Given the description of an element on the screen output the (x, y) to click on. 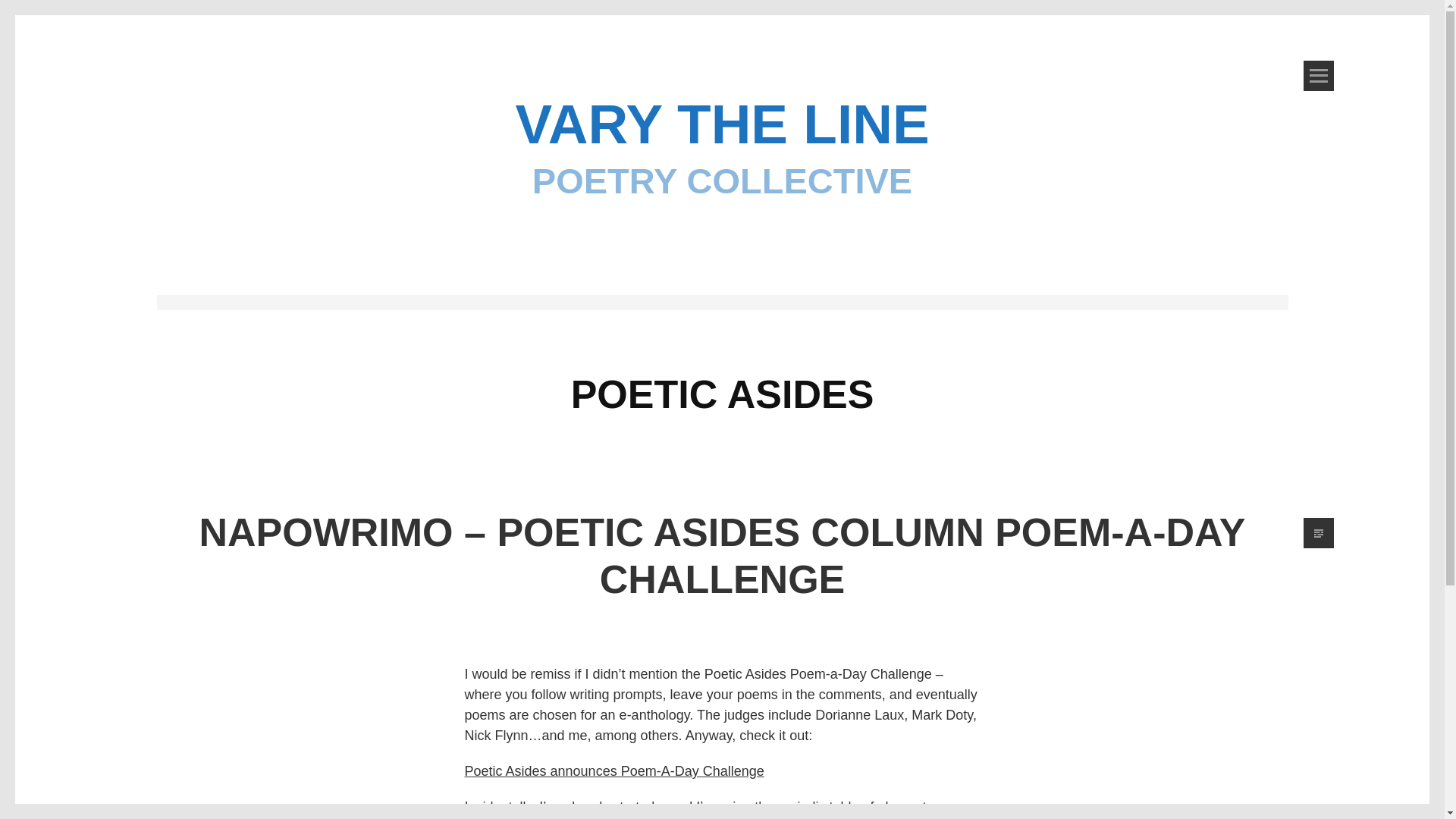
Poetic Asides announces Poem-A-Day Challenge (613, 770)
VARY THE LINE (721, 123)
